Given the description of an element on the screen output the (x, y) to click on. 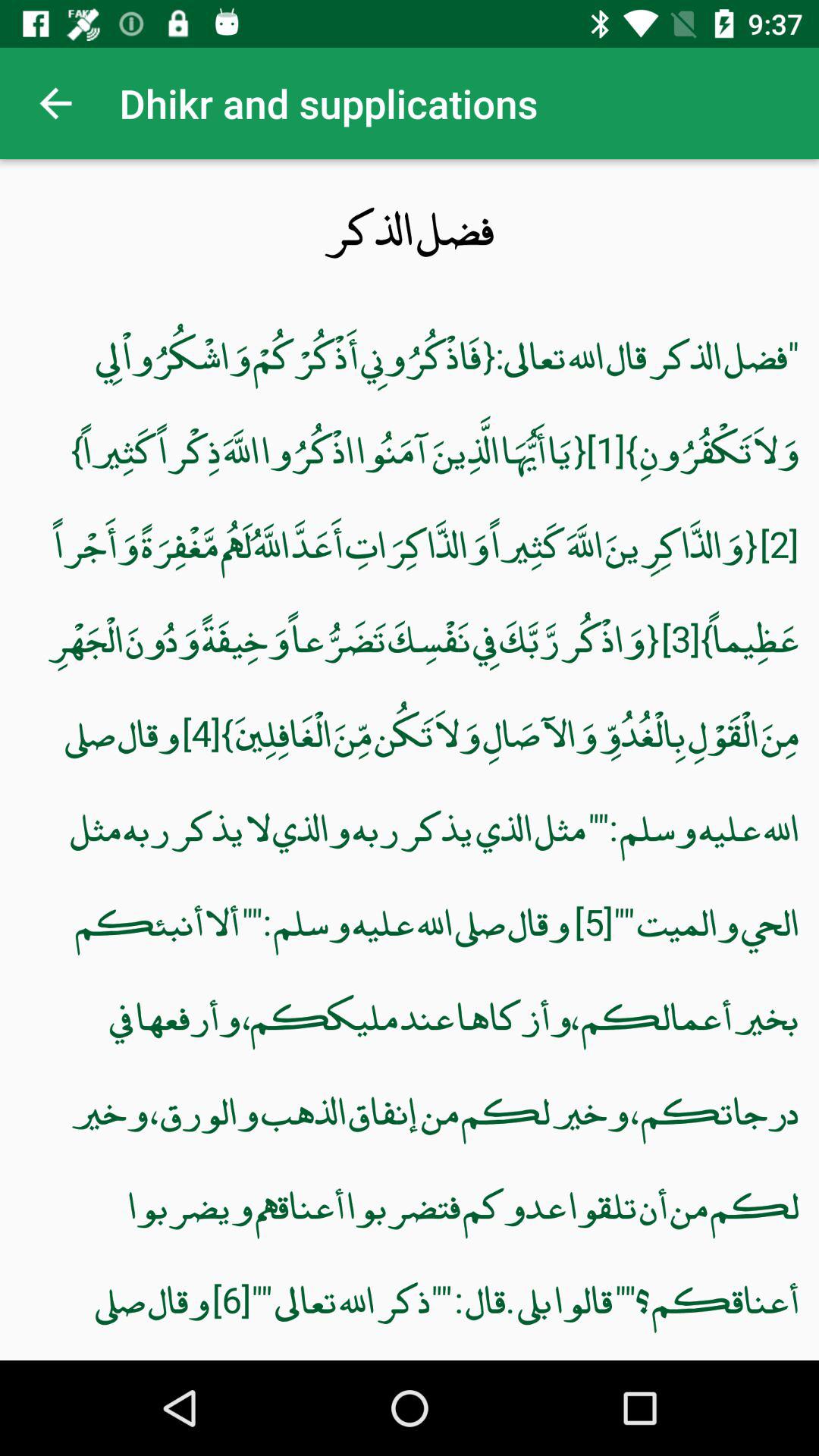
turn off item next to the dhikr and supplications app (55, 103)
